Given the description of an element on the screen output the (x, y) to click on. 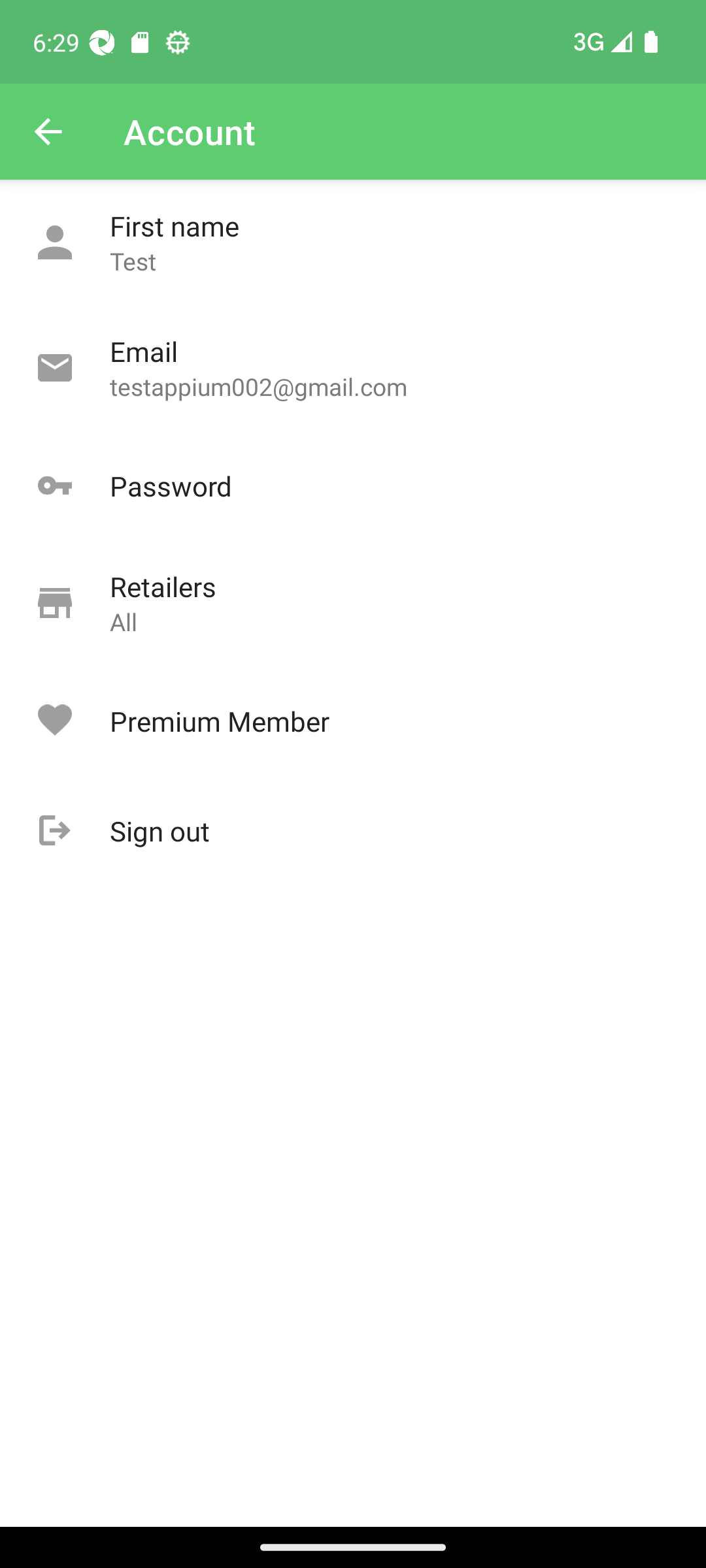
Navigate up (48, 131)
First name Test (353, 242)
Email testappium002@gmail.com (353, 368)
Password (353, 485)
Retailers All (353, 603)
Premium Member (353, 721)
Sign out (353, 830)
